Given the description of an element on the screen output the (x, y) to click on. 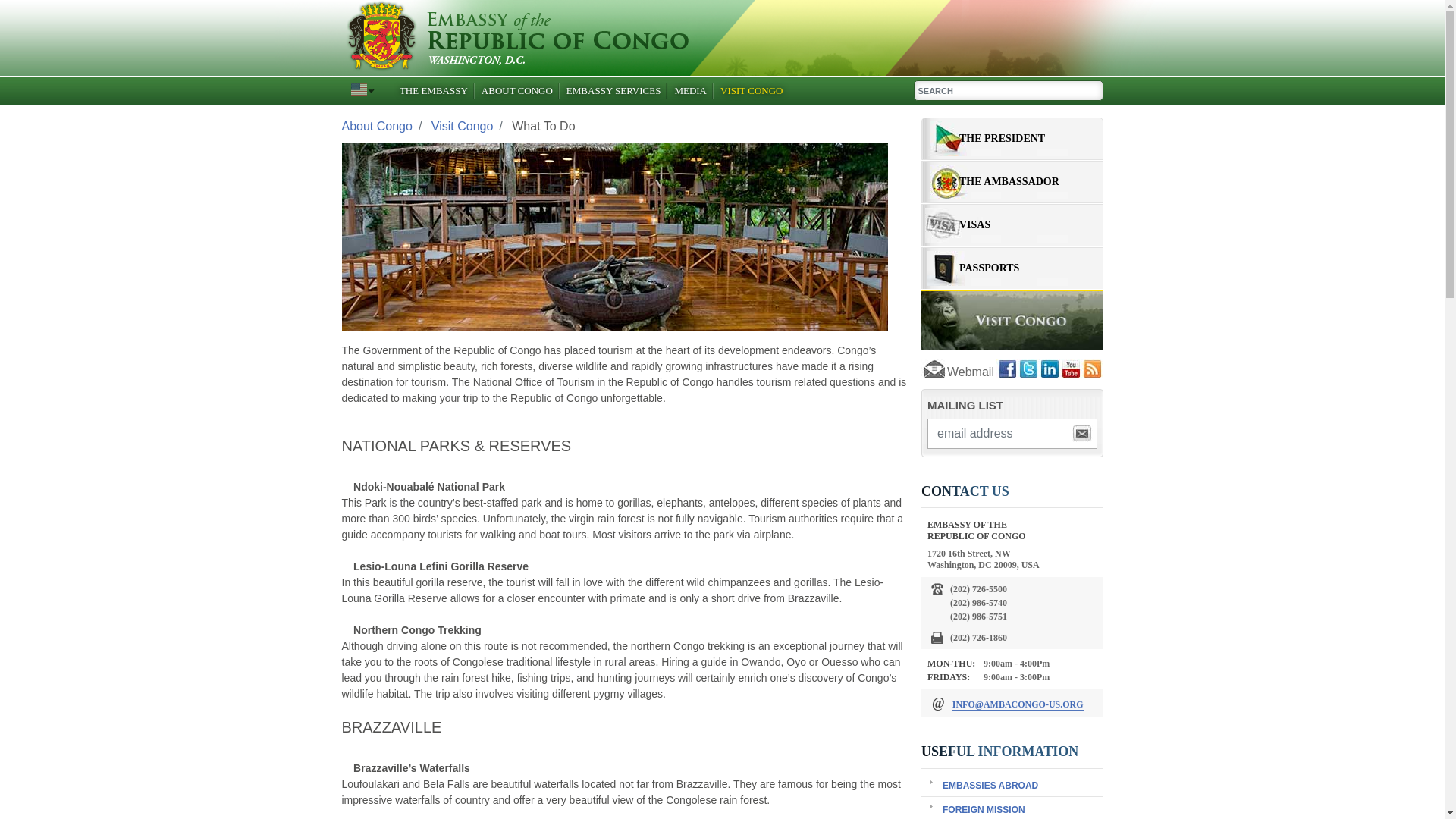
ABOUT CONGO (516, 90)
THE EMBASSY (433, 90)
MEDIA (689, 90)
EMBASSY SERVICES (613, 90)
